Given the description of an element on the screen output the (x, y) to click on. 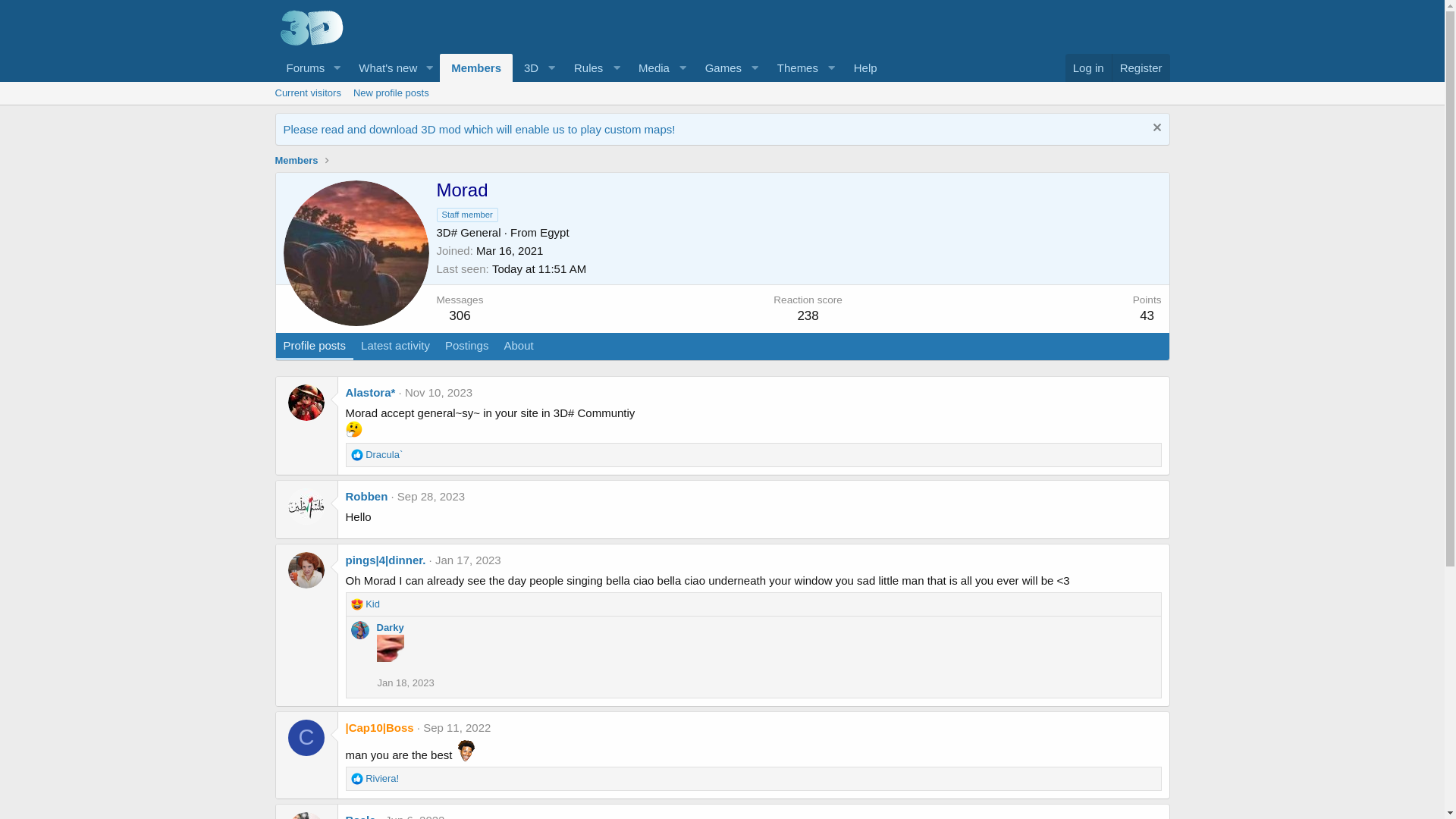
Dracula` Element type: text (383, 454)
New profile posts Element type: text (391, 92)
|Cap10|Boss Element type: text (379, 727)
Like Element type: hover (356, 778)
Members Element type: text (295, 160)
Members Element type: text (475, 67)
Games Element type: text (729, 67)
pog    pog Element type: hover (389, 648)
3D Element type: text (537, 67)
pings|4|dinner. Element type: text (385, 559)
Log in Element type: text (1088, 67)
Kid Element type: text (372, 603)
Profile posts Element type: text (315, 346)
Love Element type: hover (356, 604)
Unsure    :unsure: Element type: hover (353, 428)
Forums Element type: text (300, 67)
About Element type: text (517, 346)
Nov 10, 2023 Element type: text (438, 391)
Riviera! Element type: text (381, 778)
Latest activity Element type: text (395, 346)
Jan 17, 2023 Element type: text (468, 559)
Register Element type: text (1140, 67)
Rules Element type: text (594, 67)
Darky Element type: text (389, 627)
Alastora* Element type: text (370, 391)
C Element type: text (306, 737)
TriHard    TriHard Element type: hover (465, 750)
What's new Element type: text (382, 67)
Like Element type: hover (356, 454)
Media Element type: text (660, 67)
Current visitors Element type: text (307, 92)
Sep 28, 2023 Element type: text (430, 495)
Themes Element type: text (803, 67)
Sep 11, 2022 Element type: text (456, 727)
43 Element type: text (1146, 315)
Robben Element type: text (366, 495)
Postings Element type: text (466, 346)
Egypt Element type: text (553, 231)
306 Element type: text (459, 315)
Help Element type: text (865, 67)
